Given the description of an element on the screen output the (x, y) to click on. 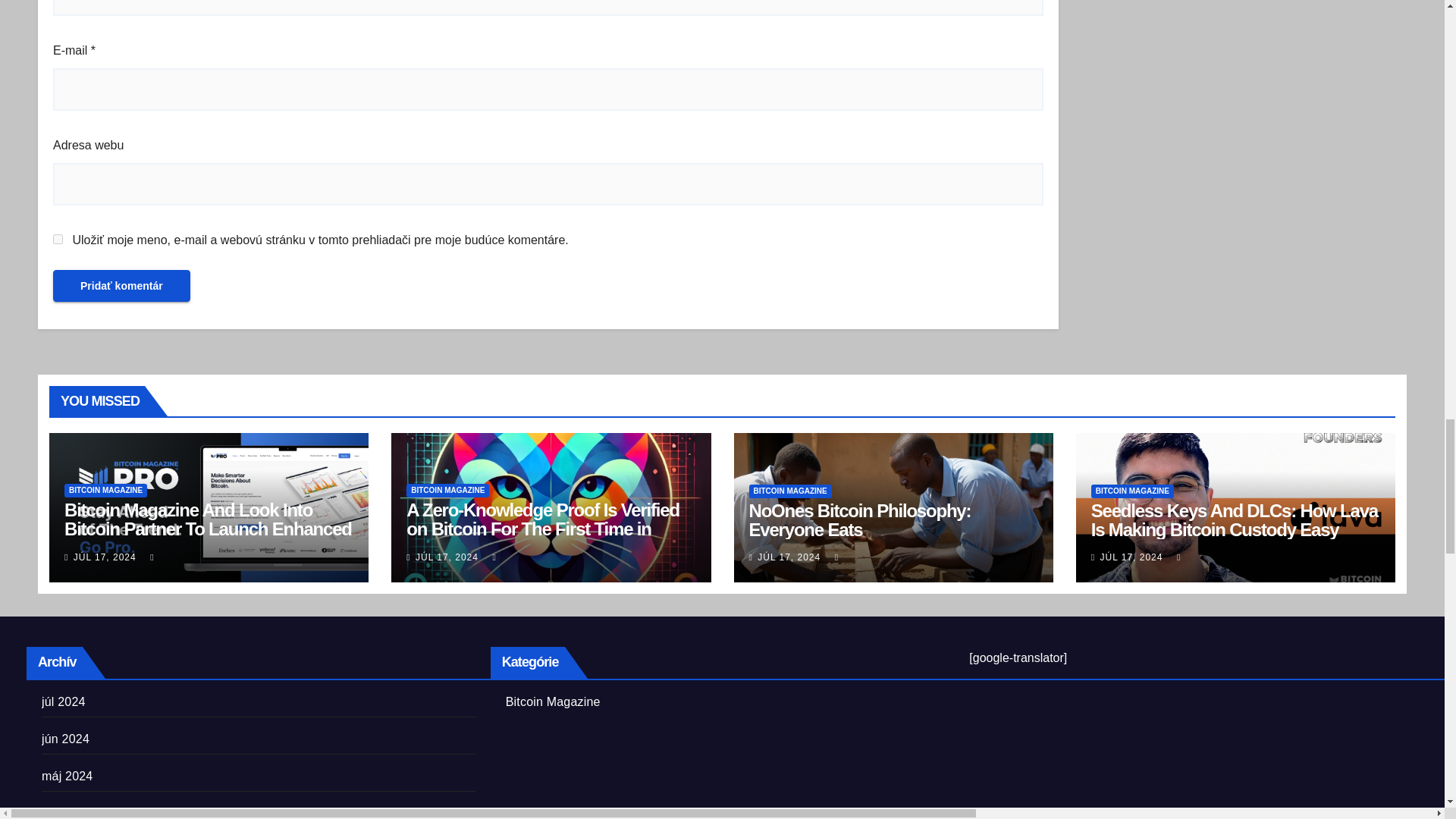
yes (57, 239)
Permalink to: NoOnes Bitcoin Philosophy: Everyone Eats (860, 519)
